Given the description of an element on the screen output the (x, y) to click on. 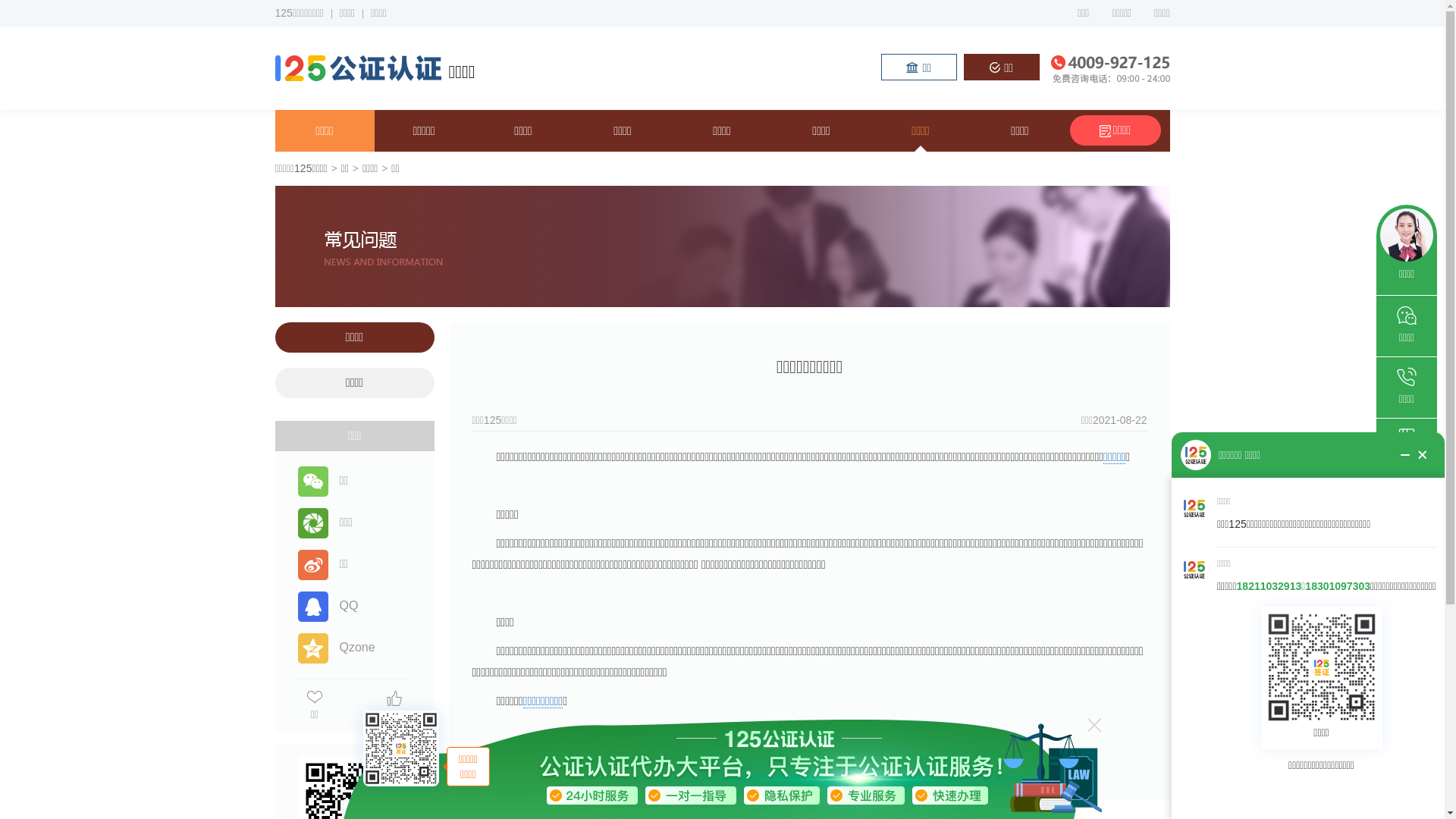
QQ Element type: text (327, 605)
Qzone Element type: text (335, 646)
